Given the description of an element on the screen output the (x, y) to click on. 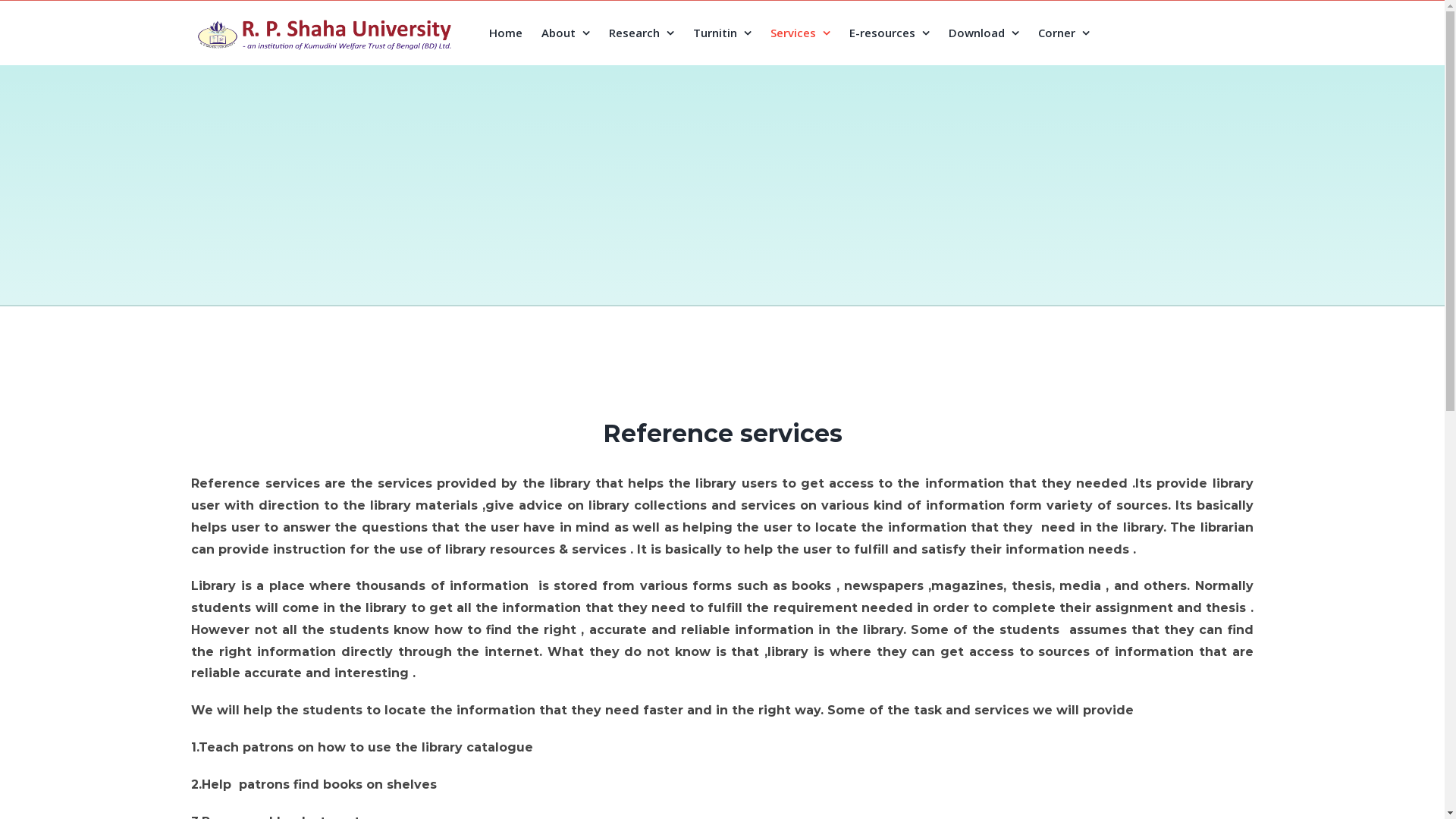
Research Element type: text (640, 32)
E-resources Element type: text (889, 32)
Services Element type: text (800, 32)
Home Element type: text (504, 32)
About Element type: text (565, 32)
Corner Element type: text (1062, 32)
Download Element type: text (982, 32)
Turnitin Element type: text (722, 32)
